Given the description of an element on the screen output the (x, y) to click on. 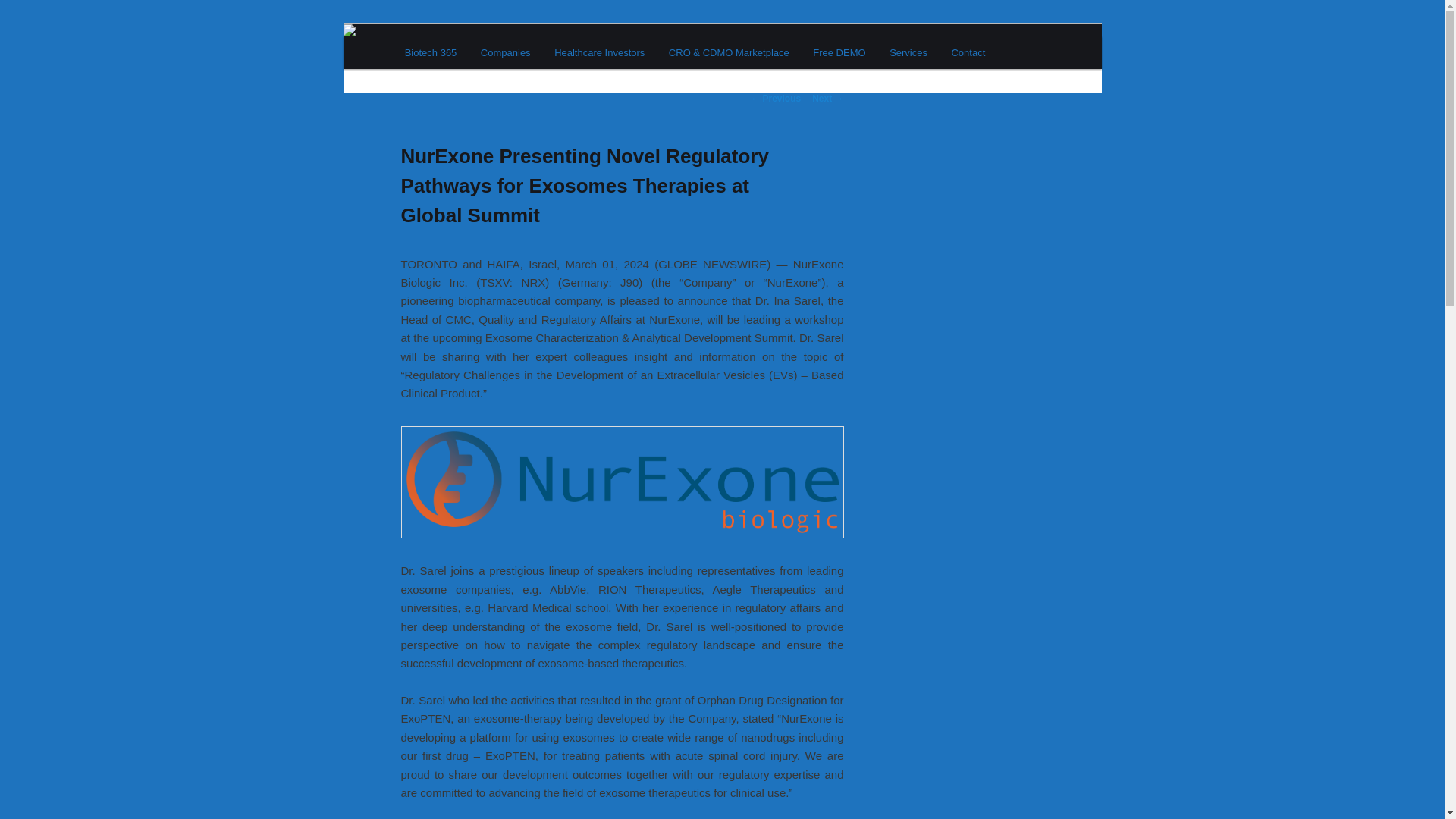
Services (908, 52)
Free DEMO (839, 52)
Biotech 365 (463, 78)
Healthcare Investors (598, 52)
Companies (504, 52)
Contact (968, 52)
Biotech 365 (430, 52)
